Given the description of an element on the screen output the (x, y) to click on. 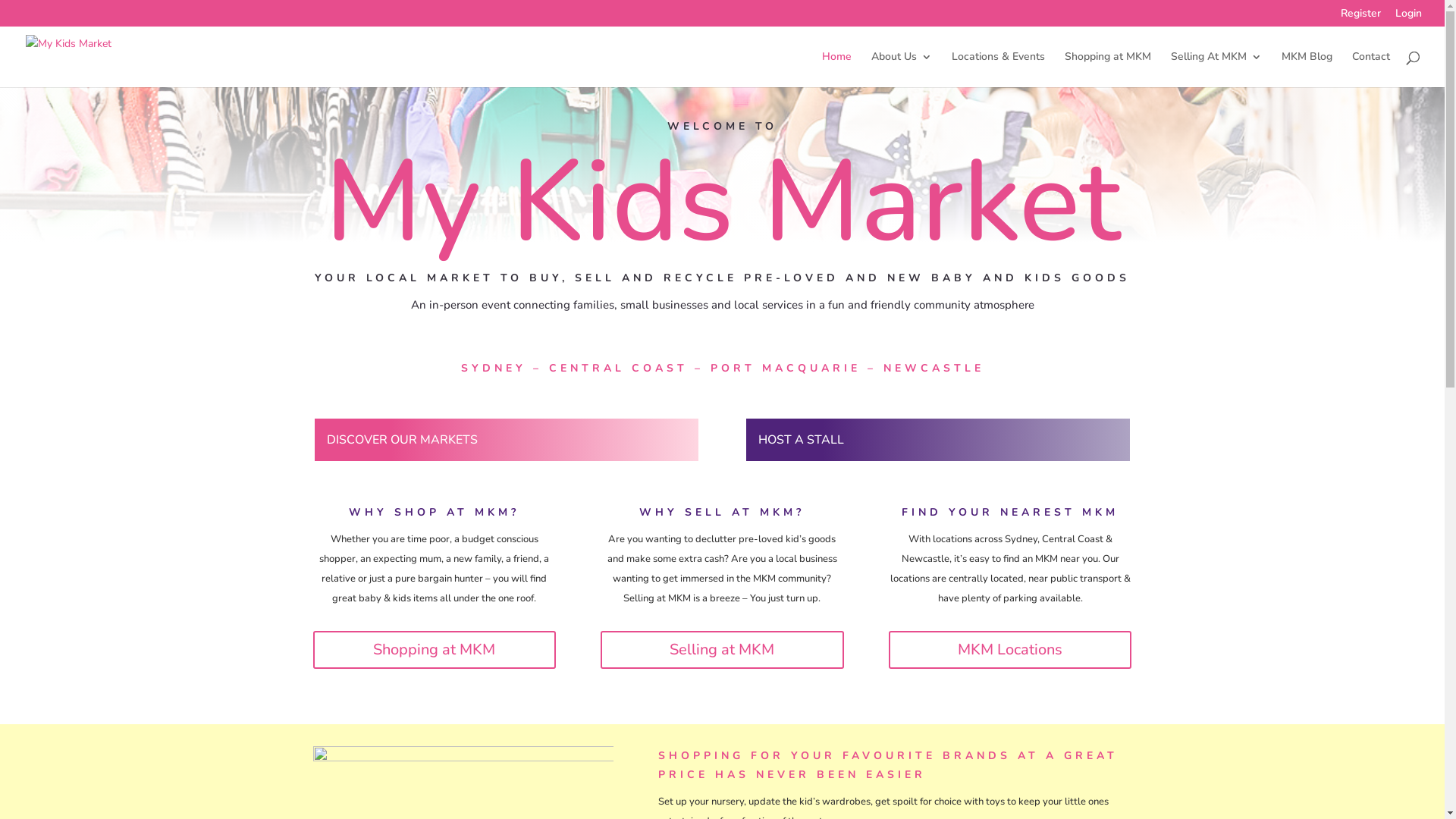
Login Element type: text (1408, 16)
Shopping at MKM Element type: text (1107, 69)
Locations & Events Element type: text (997, 69)
HOST A STALL Element type: text (937, 439)
Home Element type: text (836, 69)
DISCOVER OUR MARKETS Element type: text (505, 439)
MKM Locations Element type: text (1009, 649)
MKM Blog Element type: text (1306, 69)
Selling at MKM Element type: text (721, 649)
Shopping at MKM Element type: text (433, 649)
About Us Element type: text (901, 69)
Register Element type: text (1360, 16)
Selling At MKM Element type: text (1215, 69)
Contact Element type: text (1371, 69)
